Given the description of an element on the screen output the (x, y) to click on. 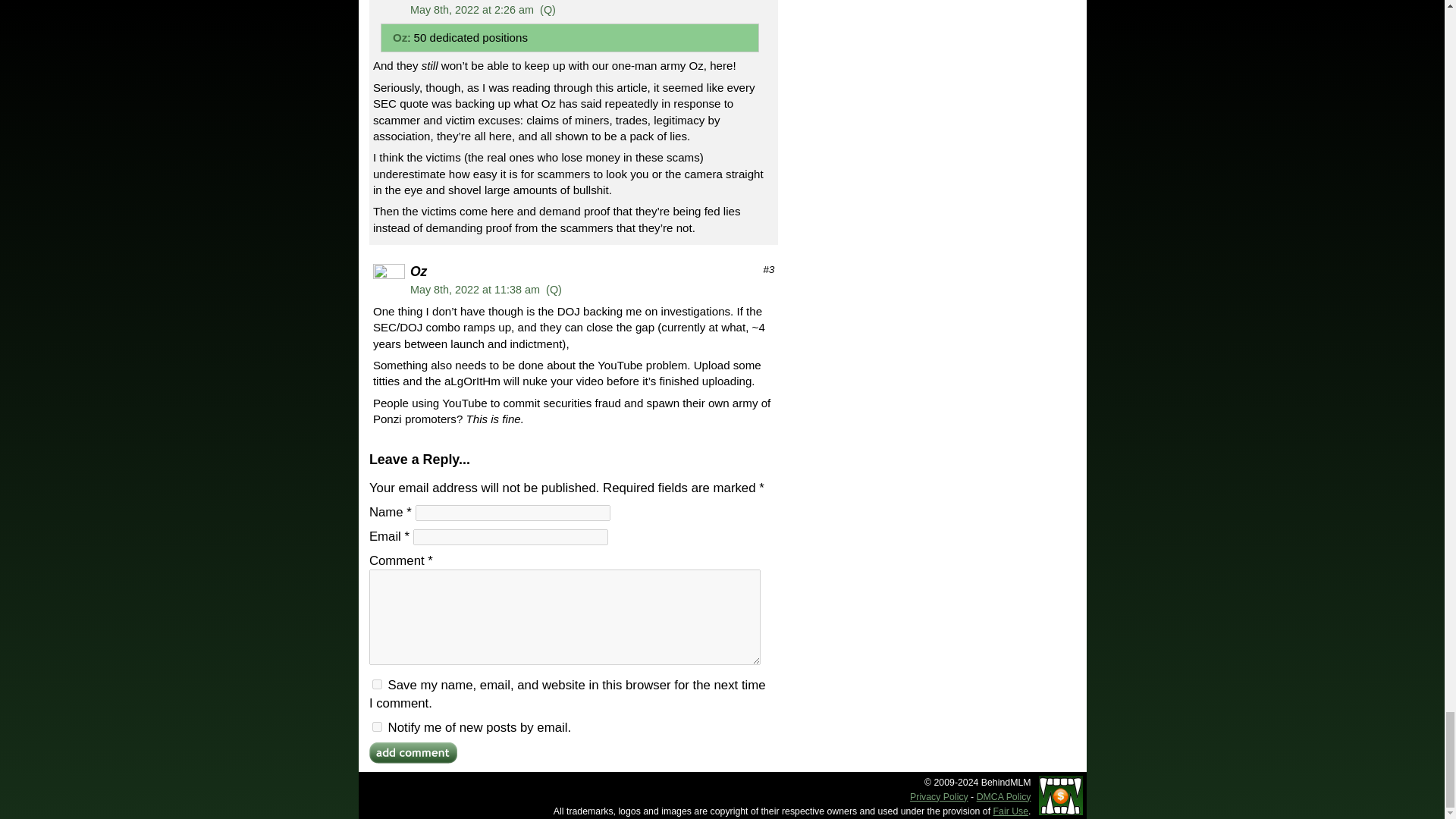
subscribe (376, 726)
May 8th, 2022 at 11:38 am (475, 289)
Click here or select text to quote comment (554, 289)
yes (376, 684)
May 8th, 2022 at 2:26 am (472, 9)
Click here or select text to quote comment (548, 9)
Oz (400, 37)
